Given the description of an element on the screen output the (x, y) to click on. 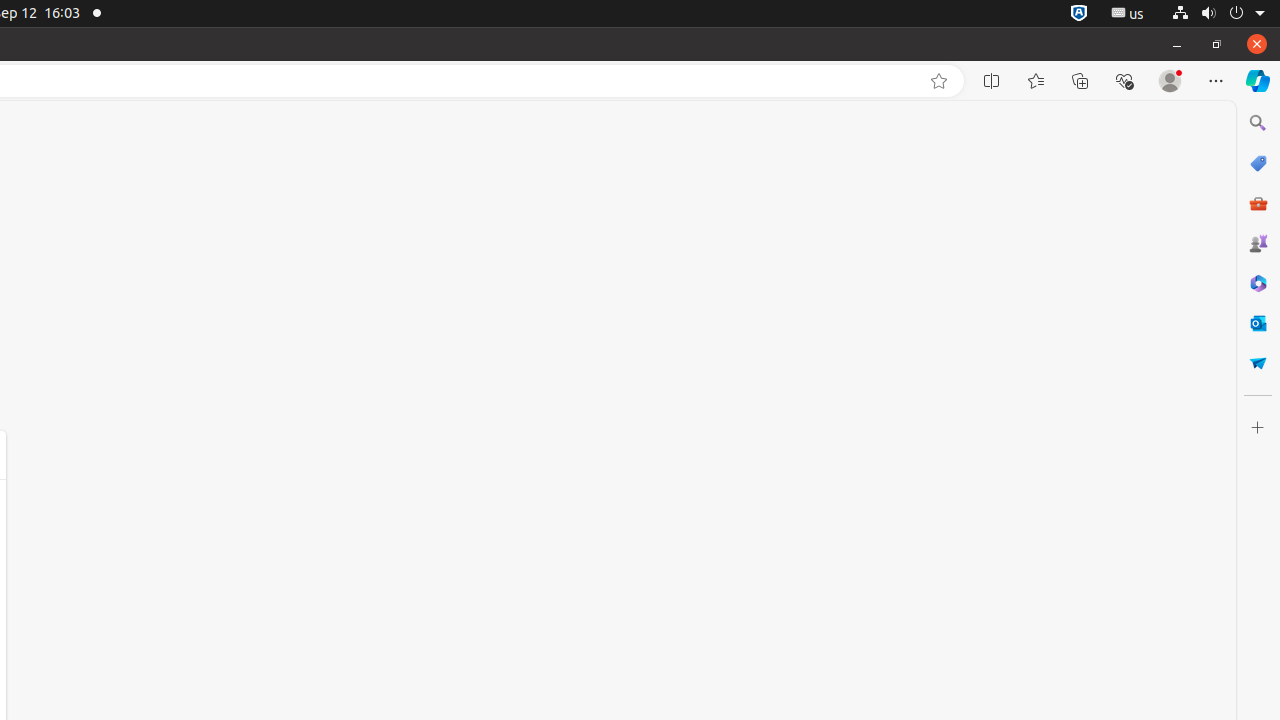
Microsoft 365 Element type: push-button (1258, 283)
:1.21/StatusNotifierItem Element type: menu (1127, 13)
System Element type: menu (1218, 13)
Search Element type: push-button (1258, 123)
Copilot (Ctrl+Shift+.) Element type: push-button (1258, 81)
